Given the description of an element on the screen output the (x, y) to click on. 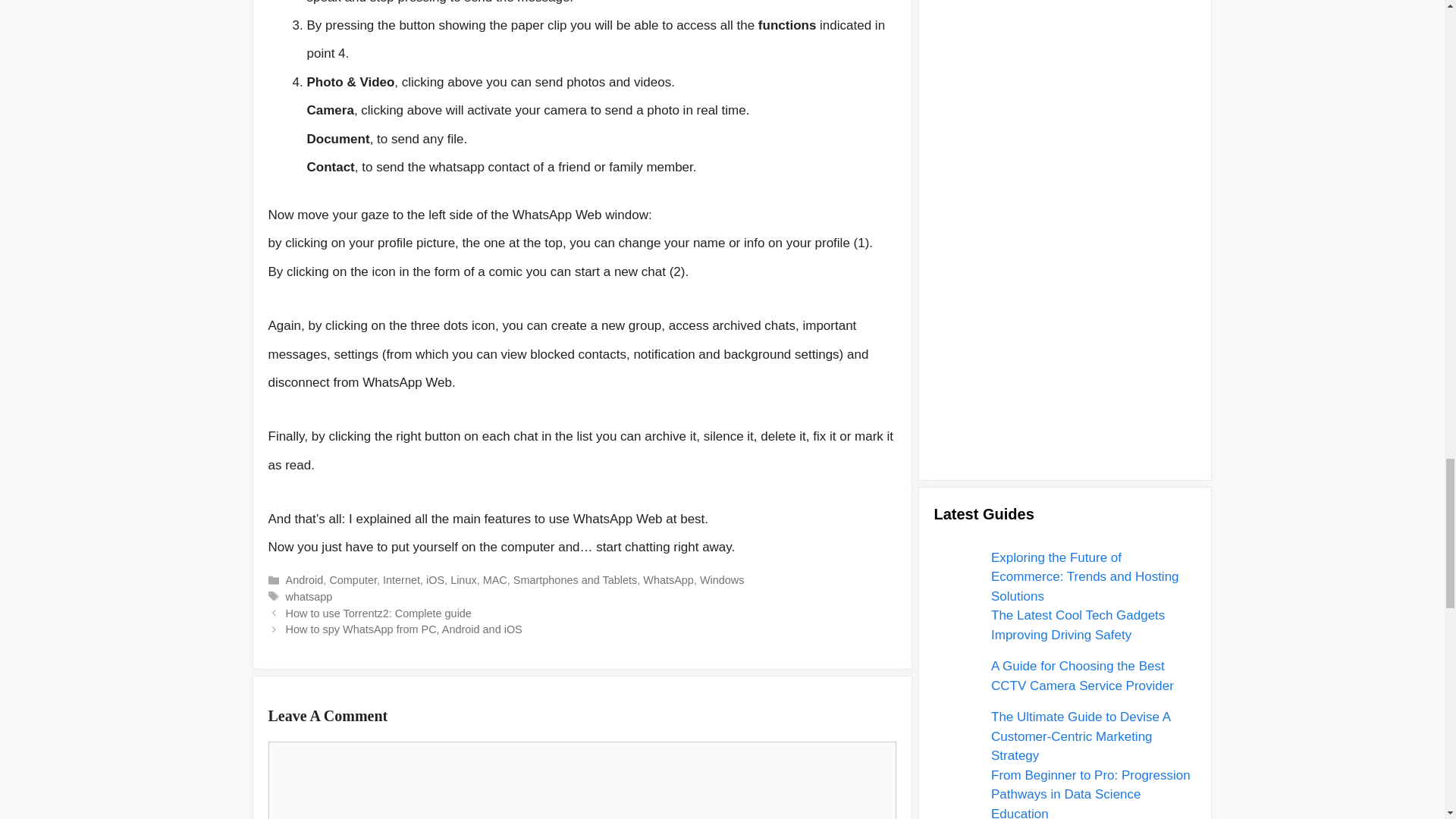
whatsapp (309, 596)
How to use Torrentz2: Complete guide (378, 613)
Smartphones and Tablets (575, 580)
Android (304, 580)
Internet (401, 580)
WhatsApp (668, 580)
Windows (722, 580)
MAC (494, 580)
How to spy WhatsApp from PC, Android and iOS (403, 629)
iOS (435, 580)
